Given the description of an element on the screen output the (x, y) to click on. 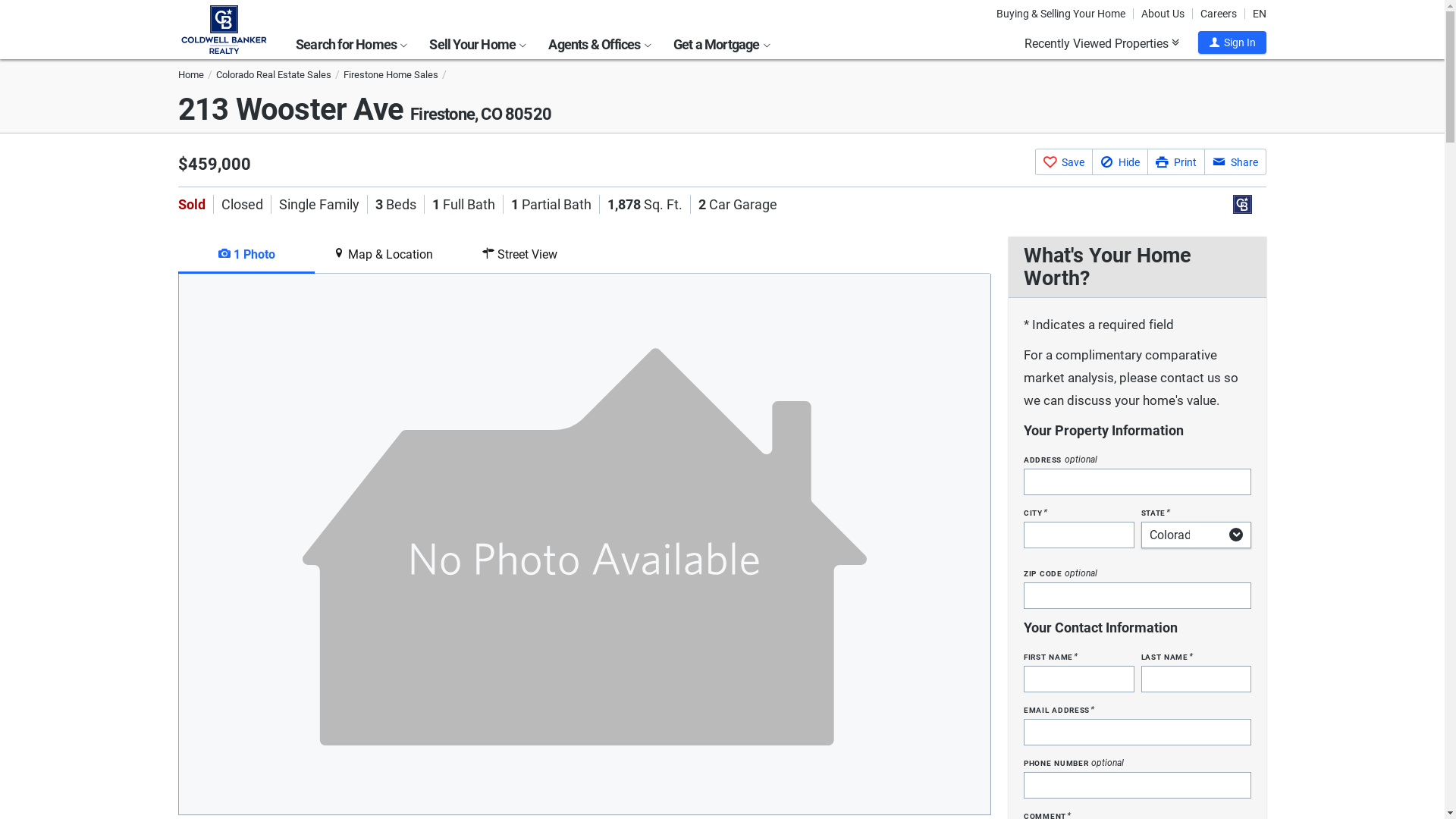
EN Element type: text (1259, 13)
Agents & Offices Element type: text (598, 43)
Sign In Element type: text (1232, 42)
Save Element type: text (1063, 161)
Street View Element type: text (519, 254)
Colorado Real Estate Sales Element type: text (273, 74)
Home Element type: text (190, 74)
Get a Mortgage Element type: text (721, 43)
Search for Homes Element type: text (350, 43)
1 Photo Element type: text (246, 254)
Buying & Selling Your Home Element type: text (1064, 13)
Sell Your Home Element type: text (476, 43)
Print Element type: text (1175, 161)
Recently Viewed Properties Element type: text (1101, 43)
Firestone Home Sales Element type: text (390, 74)
Careers Element type: text (1218, 13)
Map & Location Element type: text (382, 254)
Hide Element type: text (1119, 161)
About Us Element type: text (1162, 13)
Share Element type: text (1234, 161)
